Given the description of an element on the screen output the (x, y) to click on. 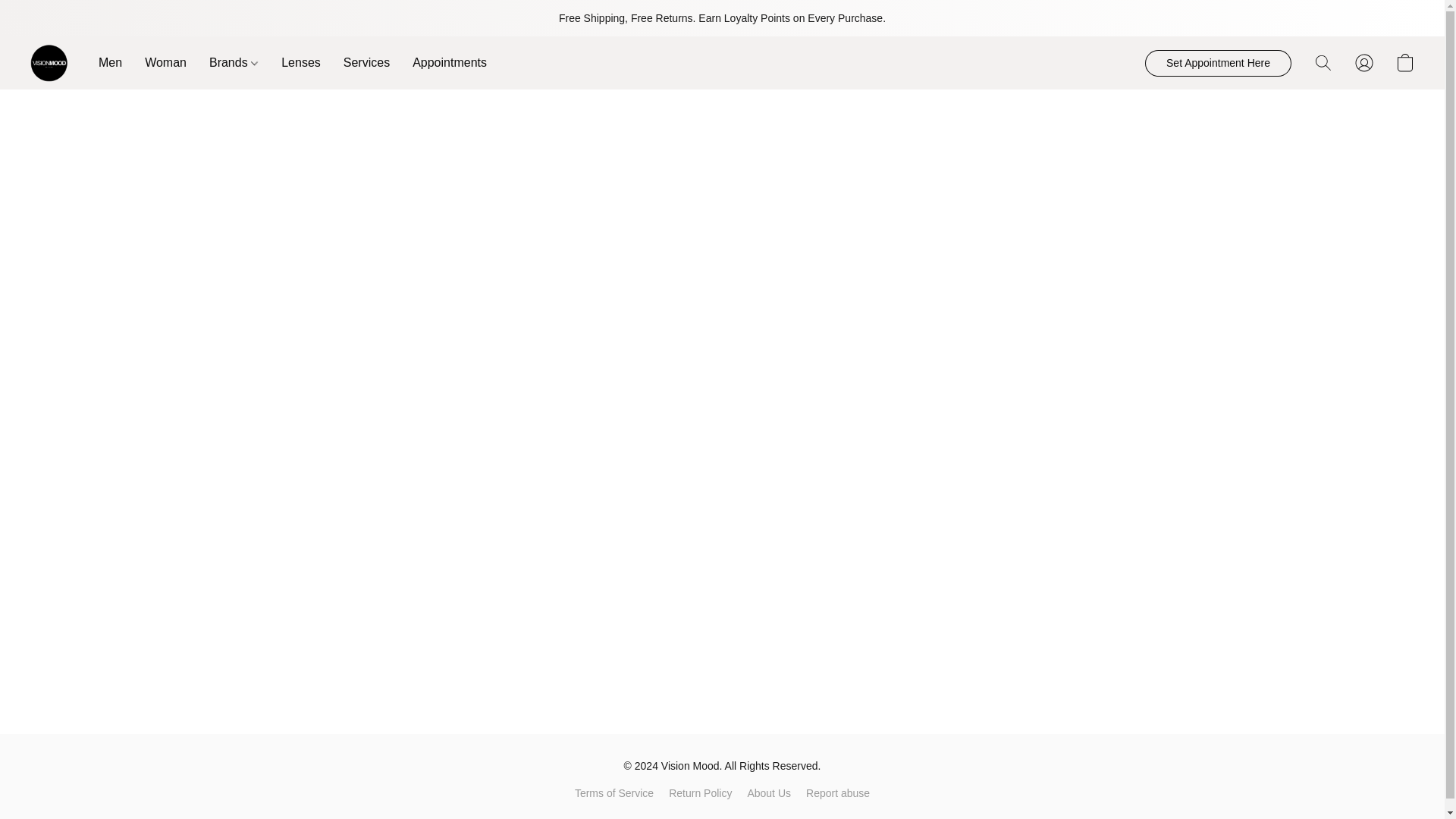
Men (116, 62)
Search the website (1323, 62)
Appointments (443, 62)
Return Policy (700, 792)
Report abuse (837, 792)
Brands (233, 62)
Terms of Service (614, 792)
Services (366, 62)
Woman (165, 62)
Set Appointment Here (1217, 62)
